Given the description of an element on the screen output the (x, y) to click on. 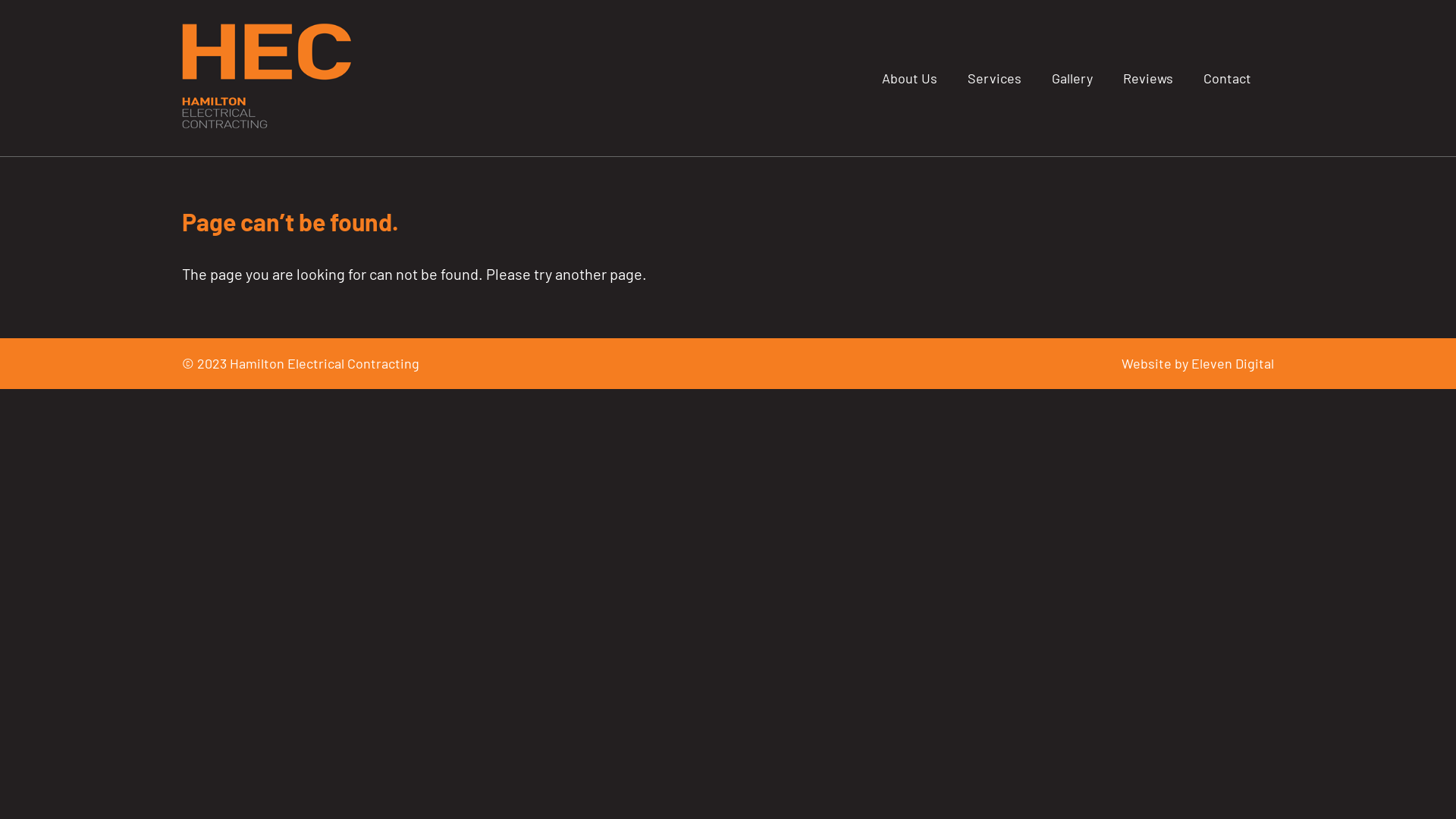
Services Element type: text (994, 77)
Contact Element type: text (1226, 77)
Eleven Digital Element type: text (1232, 362)
About Us Element type: text (909, 77)
Gallery Element type: text (1072, 77)
Reviews Element type: text (1147, 77)
